Given the description of an element on the screen output the (x, y) to click on. 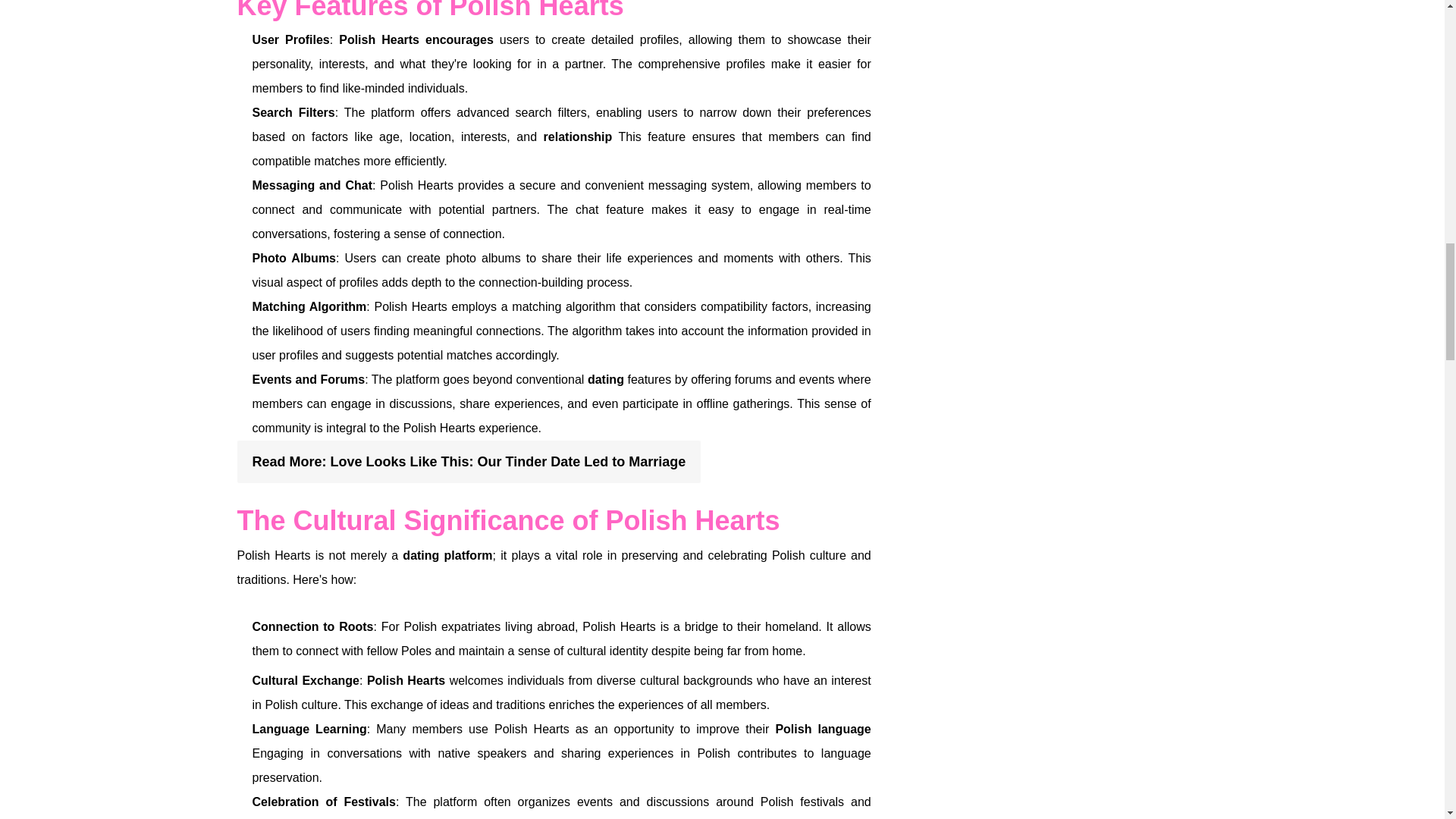
Love Looks Like This: Our Tinder Date Led to Marriage (507, 461)
